Given the description of an element on the screen output the (x, y) to click on. 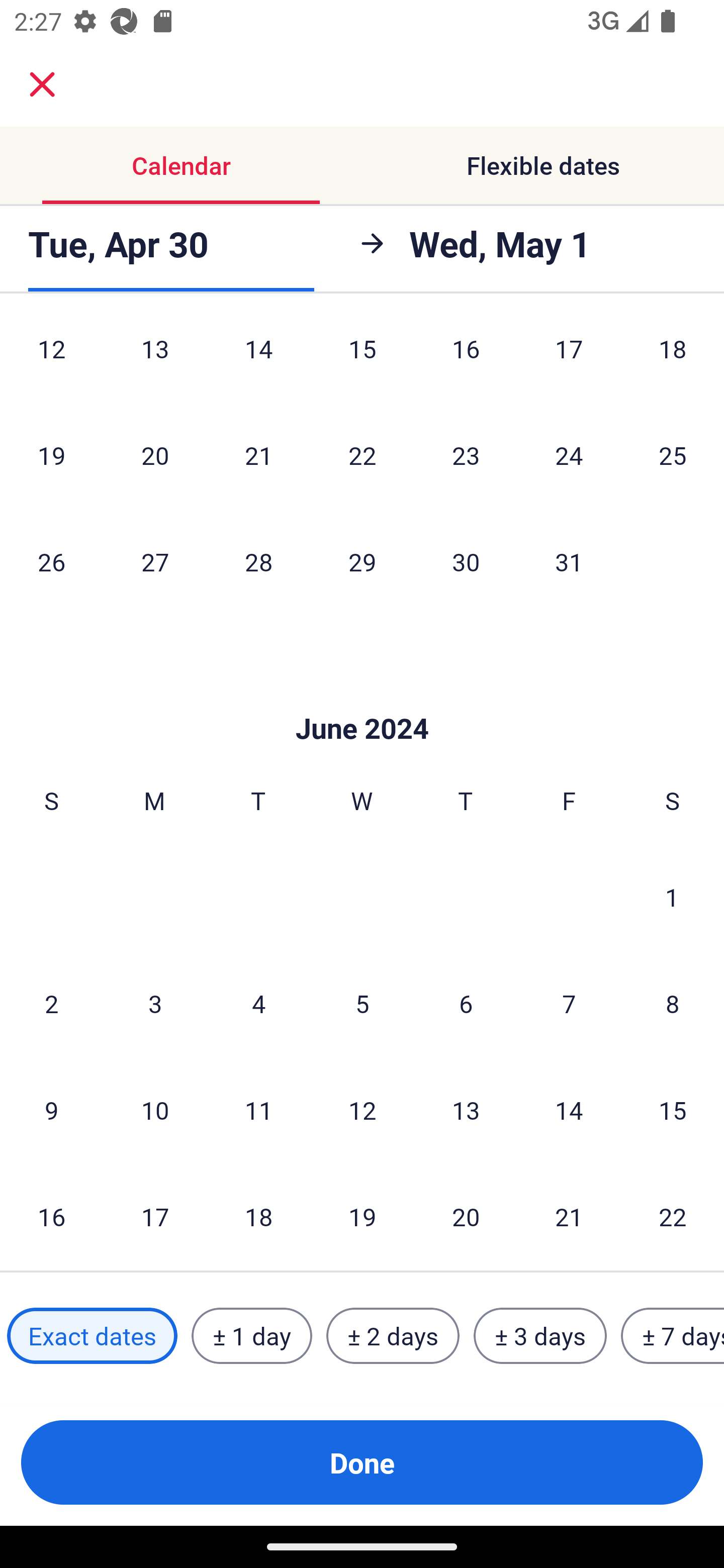
close. (42, 84)
Flexible dates (542, 164)
12 Sunday, May 12, 2024 (51, 360)
13 Monday, May 13, 2024 (155, 360)
14 Tuesday, May 14, 2024 (258, 360)
15 Wednesday, May 15, 2024 (362, 360)
16 Thursday, May 16, 2024 (465, 360)
17 Friday, May 17, 2024 (569, 360)
18 Saturday, May 18, 2024 (672, 360)
19 Sunday, May 19, 2024 (51, 454)
20 Monday, May 20, 2024 (155, 454)
21 Tuesday, May 21, 2024 (258, 454)
22 Wednesday, May 22, 2024 (362, 454)
23 Thursday, May 23, 2024 (465, 454)
24 Friday, May 24, 2024 (569, 454)
25 Saturday, May 25, 2024 (672, 454)
26 Sunday, May 26, 2024 (51, 561)
27 Monday, May 27, 2024 (155, 561)
28 Tuesday, May 28, 2024 (258, 561)
29 Wednesday, May 29, 2024 (362, 561)
30 Thursday, May 30, 2024 (465, 561)
31 Friday, May 31, 2024 (569, 561)
Skip to Done (362, 698)
1 Saturday, June 1, 2024 (672, 896)
2 Sunday, June 2, 2024 (51, 1003)
3 Monday, June 3, 2024 (155, 1003)
4 Tuesday, June 4, 2024 (258, 1003)
5 Wednesday, June 5, 2024 (362, 1003)
6 Thursday, June 6, 2024 (465, 1003)
7 Friday, June 7, 2024 (569, 1003)
8 Saturday, June 8, 2024 (672, 1003)
9 Sunday, June 9, 2024 (51, 1109)
10 Monday, June 10, 2024 (155, 1109)
11 Tuesday, June 11, 2024 (258, 1109)
12 Wednesday, June 12, 2024 (362, 1109)
13 Thursday, June 13, 2024 (465, 1109)
14 Friday, June 14, 2024 (569, 1109)
15 Saturday, June 15, 2024 (672, 1109)
16 Sunday, June 16, 2024 (51, 1216)
17 Monday, June 17, 2024 (155, 1216)
18 Tuesday, June 18, 2024 (258, 1216)
19 Wednesday, June 19, 2024 (362, 1216)
20 Thursday, June 20, 2024 (465, 1216)
21 Friday, June 21, 2024 (569, 1216)
22 Saturday, June 22, 2024 (672, 1216)
Exact dates (92, 1335)
± 1 day (251, 1335)
± 2 days (392, 1335)
± 3 days (539, 1335)
± 7 days (672, 1335)
Done (361, 1462)
